Given the description of an element on the screen output the (x, y) to click on. 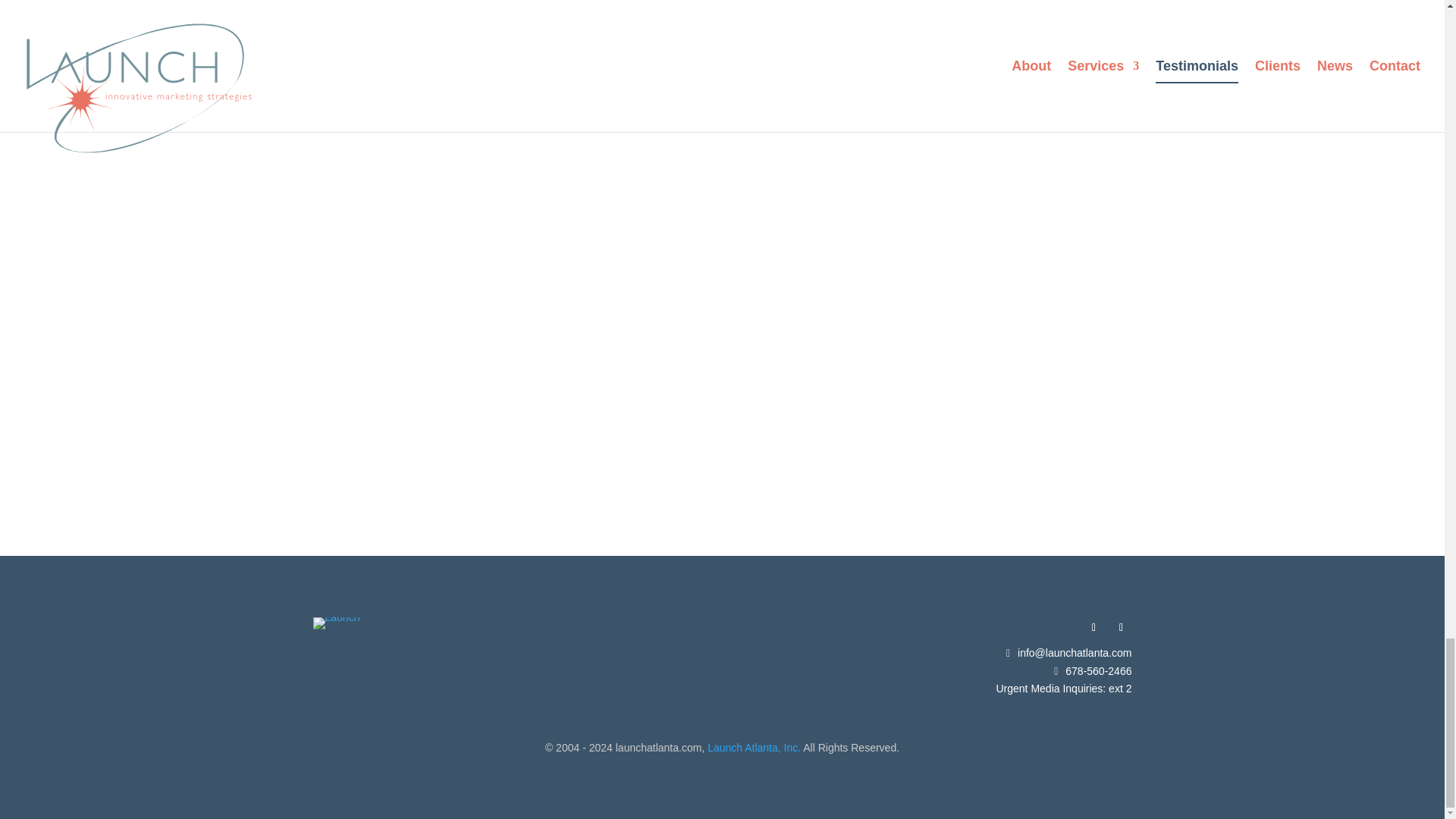
Launch Atlanta, Inc. (753, 747)
Launch-Atlanta-Logo-white (336, 623)
Follow on Facebook (1093, 627)
Follow on Instagram (1120, 627)
